Given the description of an element on the screen output the (x, y) to click on. 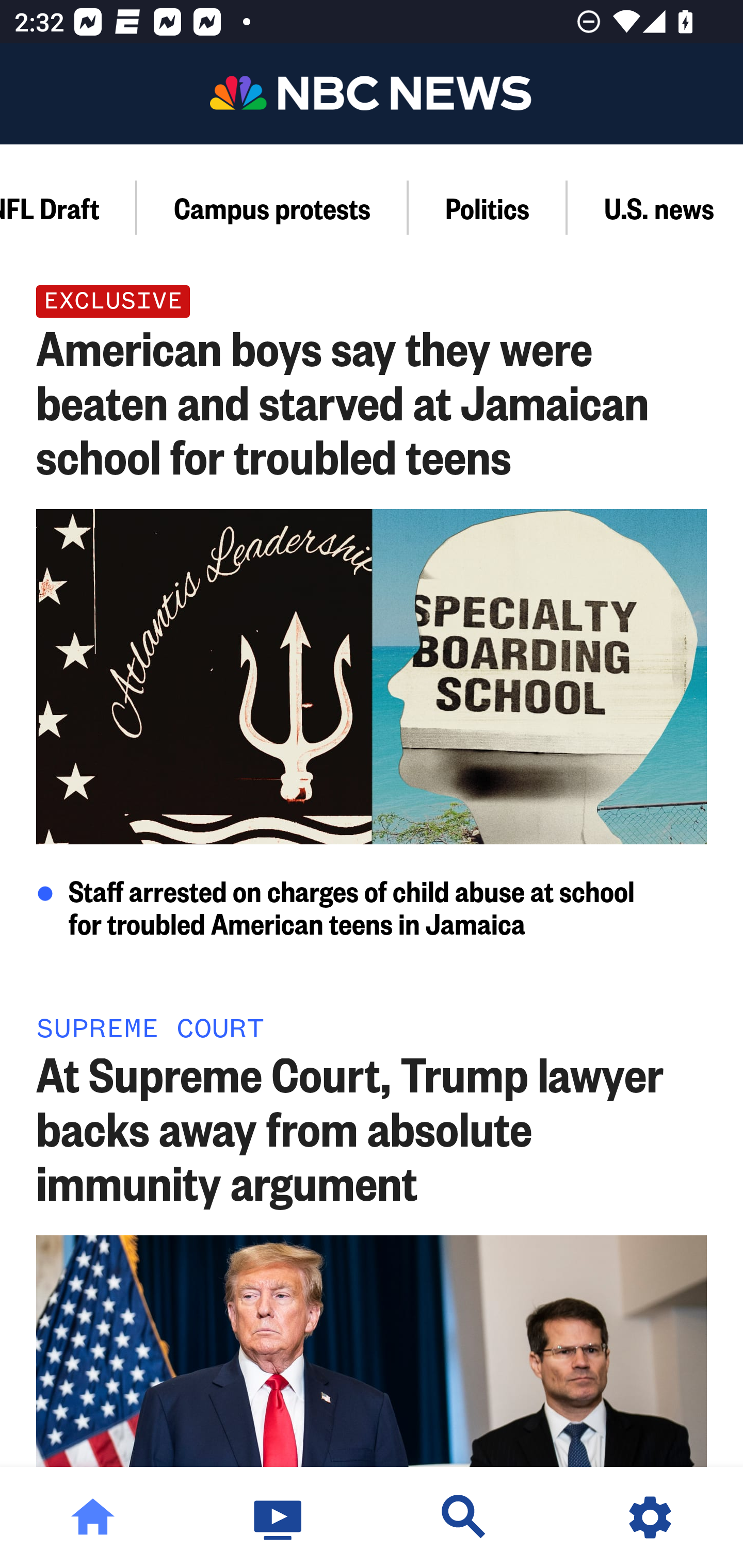
Campus protests (272, 207)
Politics Section,Politics (487, 207)
U.S. news Section,U.S. news (655, 207)
Watch (278, 1517)
Discover (464, 1517)
Settings (650, 1517)
